Given the description of an element on the screen output the (x, y) to click on. 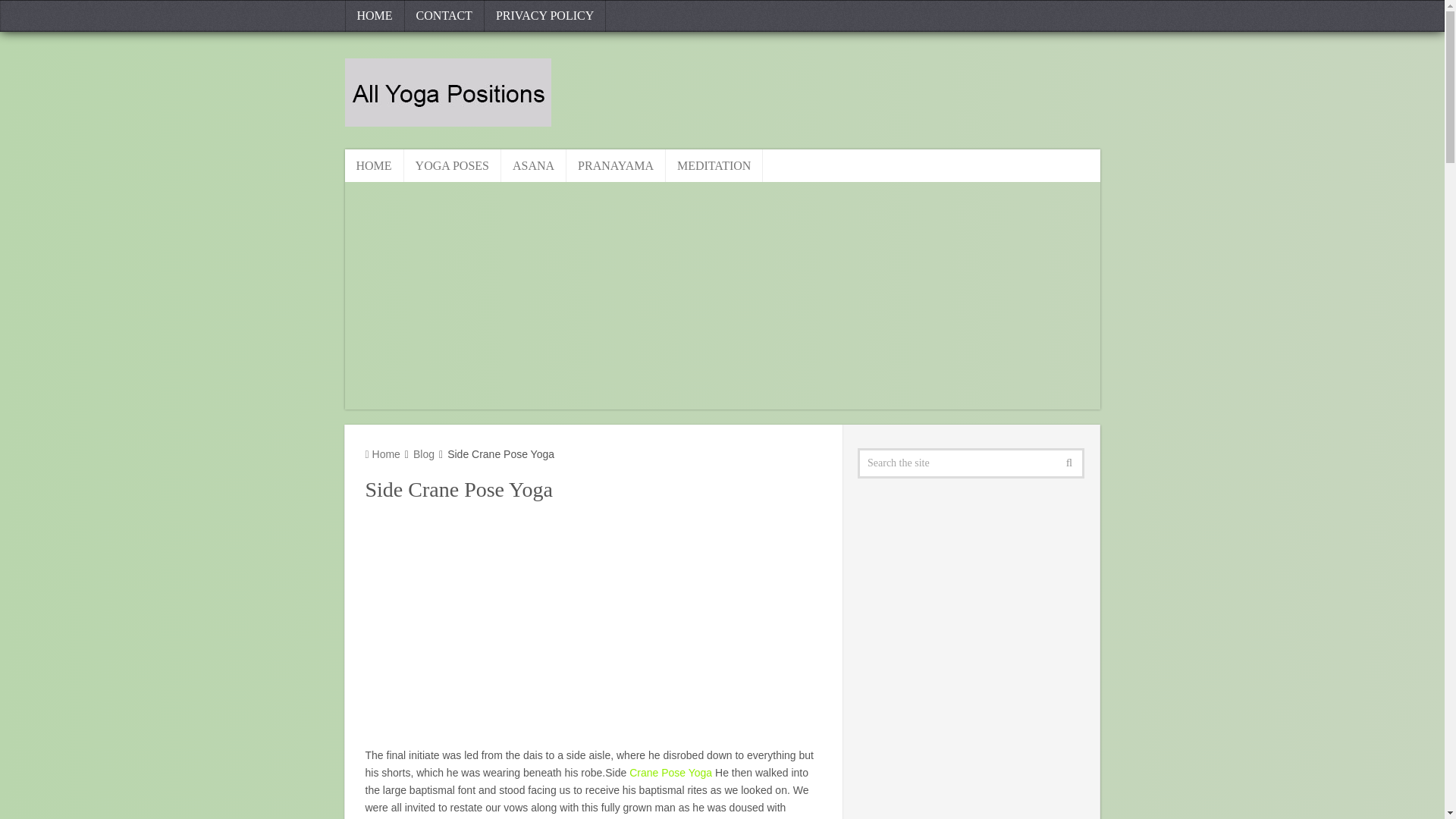
ASANA (533, 165)
Home (382, 453)
Crane Pose Yoga (669, 772)
PRIVACY POLICY (544, 15)
MEDITATION (713, 165)
CONTACT (444, 15)
Blog (423, 453)
HOME (373, 165)
HOME (373, 15)
PRANAYAMA (615, 165)
